Given the description of an element on the screen output the (x, y) to click on. 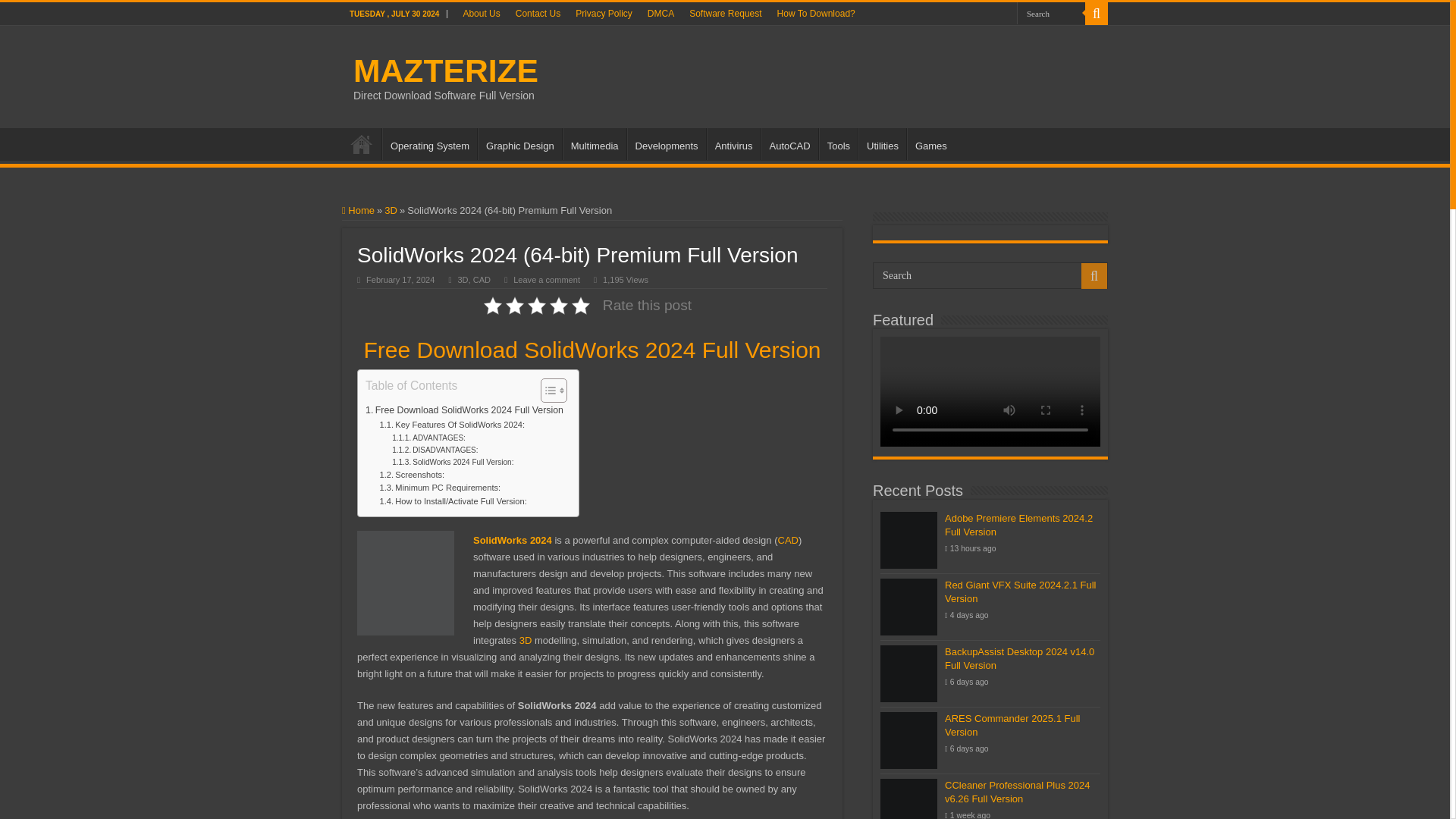
Free Download SolidWorks 2024 Full Version (464, 410)
Operating System (429, 143)
Tools (837, 143)
Games (931, 143)
DISADVANTAGES: (434, 450)
Screenshots: (412, 475)
AutoCAD (788, 143)
Software Request (724, 13)
Graphic Design (519, 143)
SolidWorks 2024 Full Version: (452, 462)
SolidWorks 2024 (512, 540)
DMCA (660, 13)
Home (358, 210)
3D (390, 210)
Multimedia (594, 143)
